Given the description of an element on the screen output the (x, y) to click on. 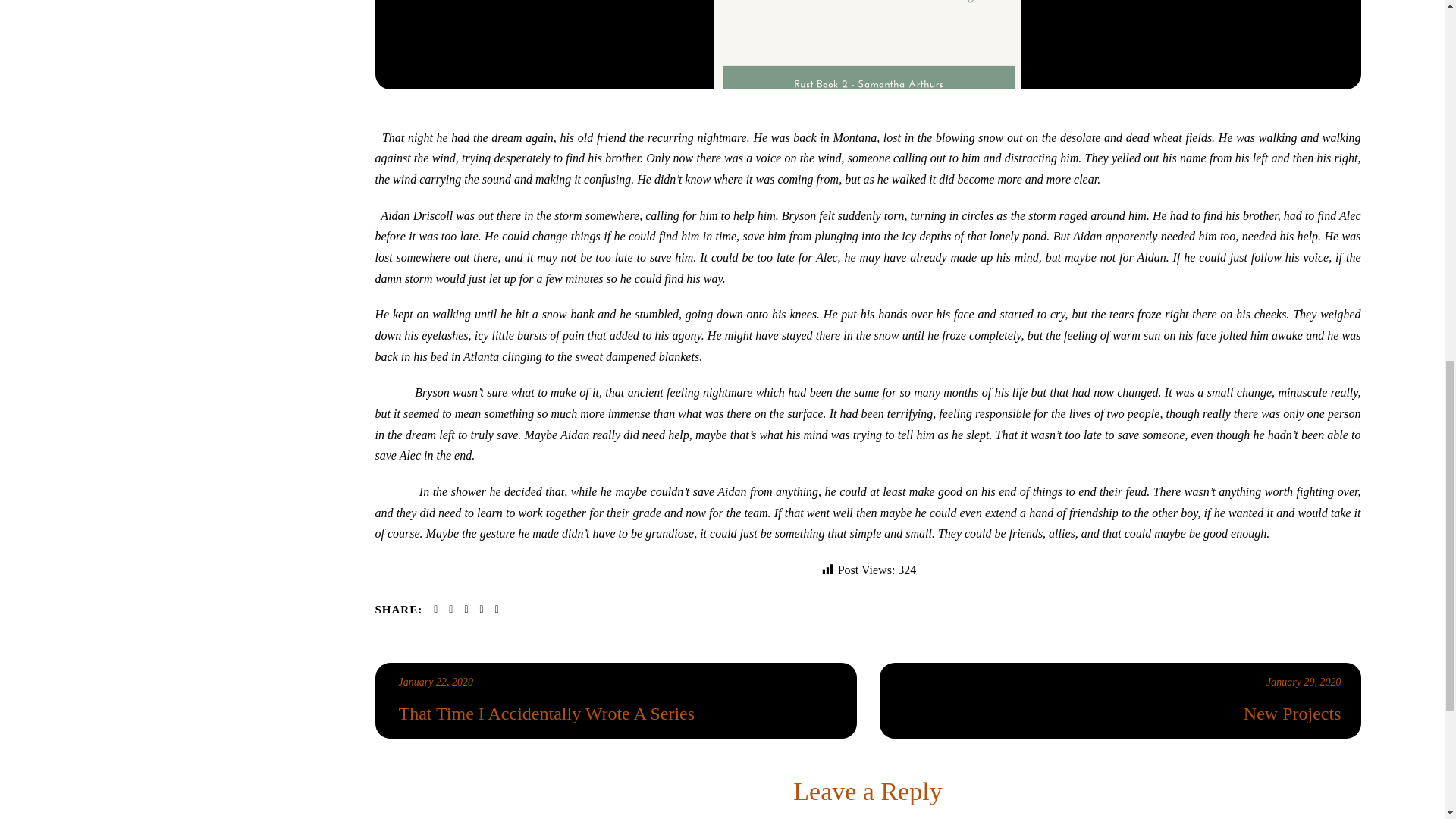
January 29, 2020 (1303, 681)
New Projects (1121, 713)
January 22, 2020 (435, 681)
That Time I Accidentally Wrote A Series (435, 681)
That Time I Accidentally Wrote A Series (617, 713)
